Given the description of an element on the screen output the (x, y) to click on. 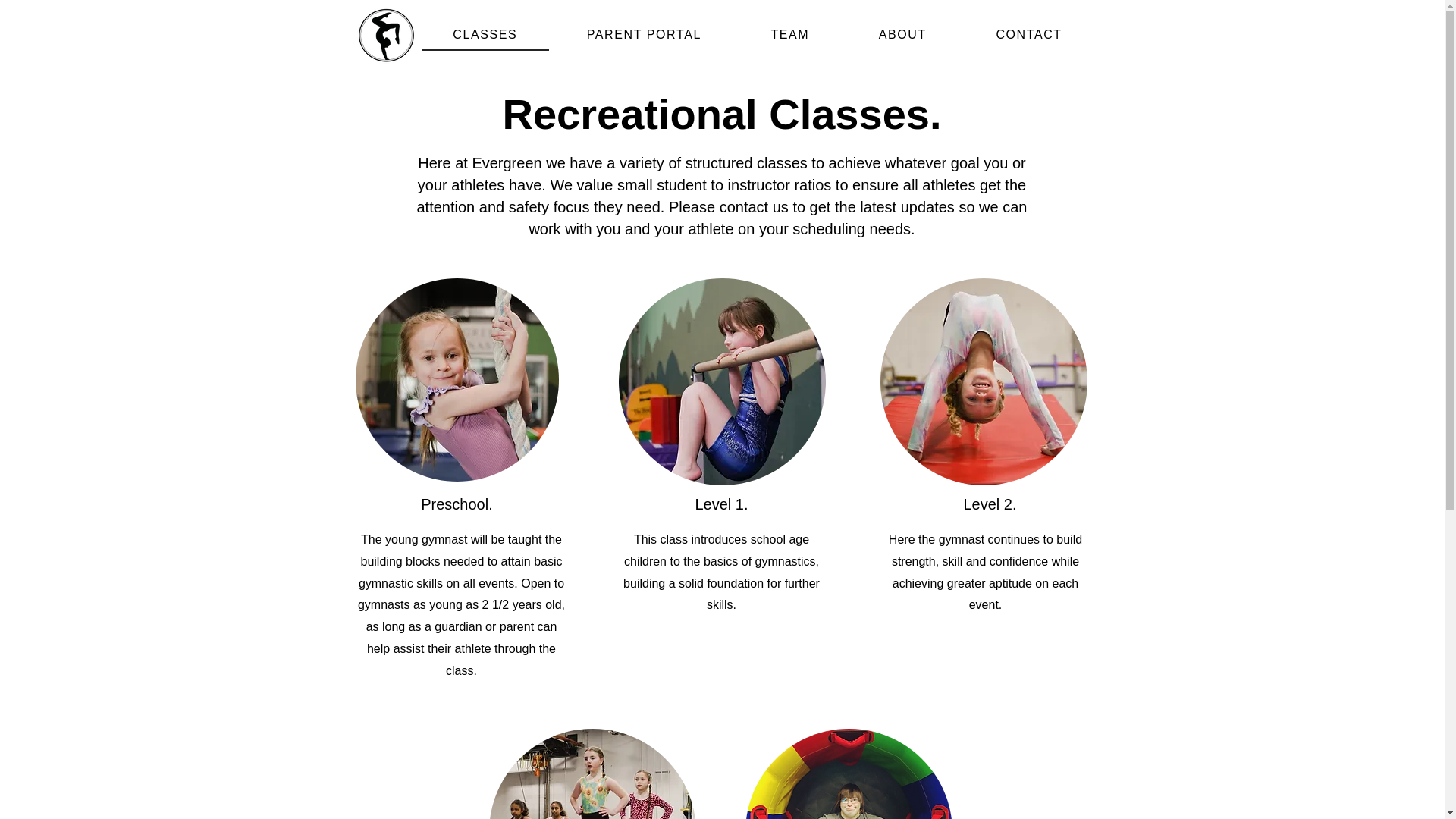
TEAM (790, 36)
CLASSES (486, 35)
ABOUT (902, 36)
PARENT PORTAL (643, 36)
CONTACT (1028, 36)
